Given the description of an element on the screen output the (x, y) to click on. 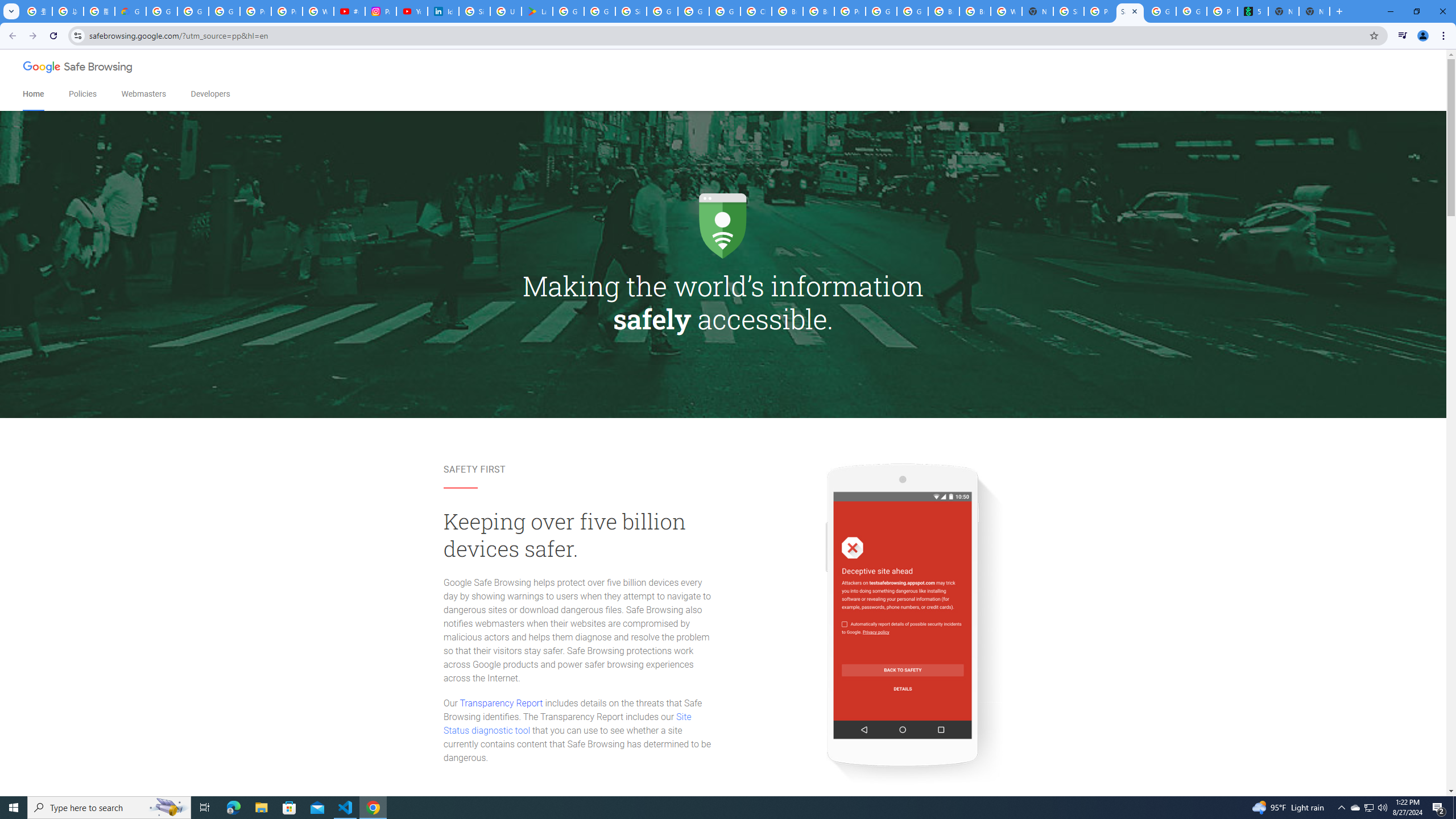
Developers (210, 94)
Google Cloud Platform (881, 11)
Browse Chrome as a guest - Computer - Google Chrome Help (818, 11)
Sign in - Google Accounts (474, 11)
Site Status diagnostic tool (566, 723)
